Given the description of an element on the screen output the (x, y) to click on. 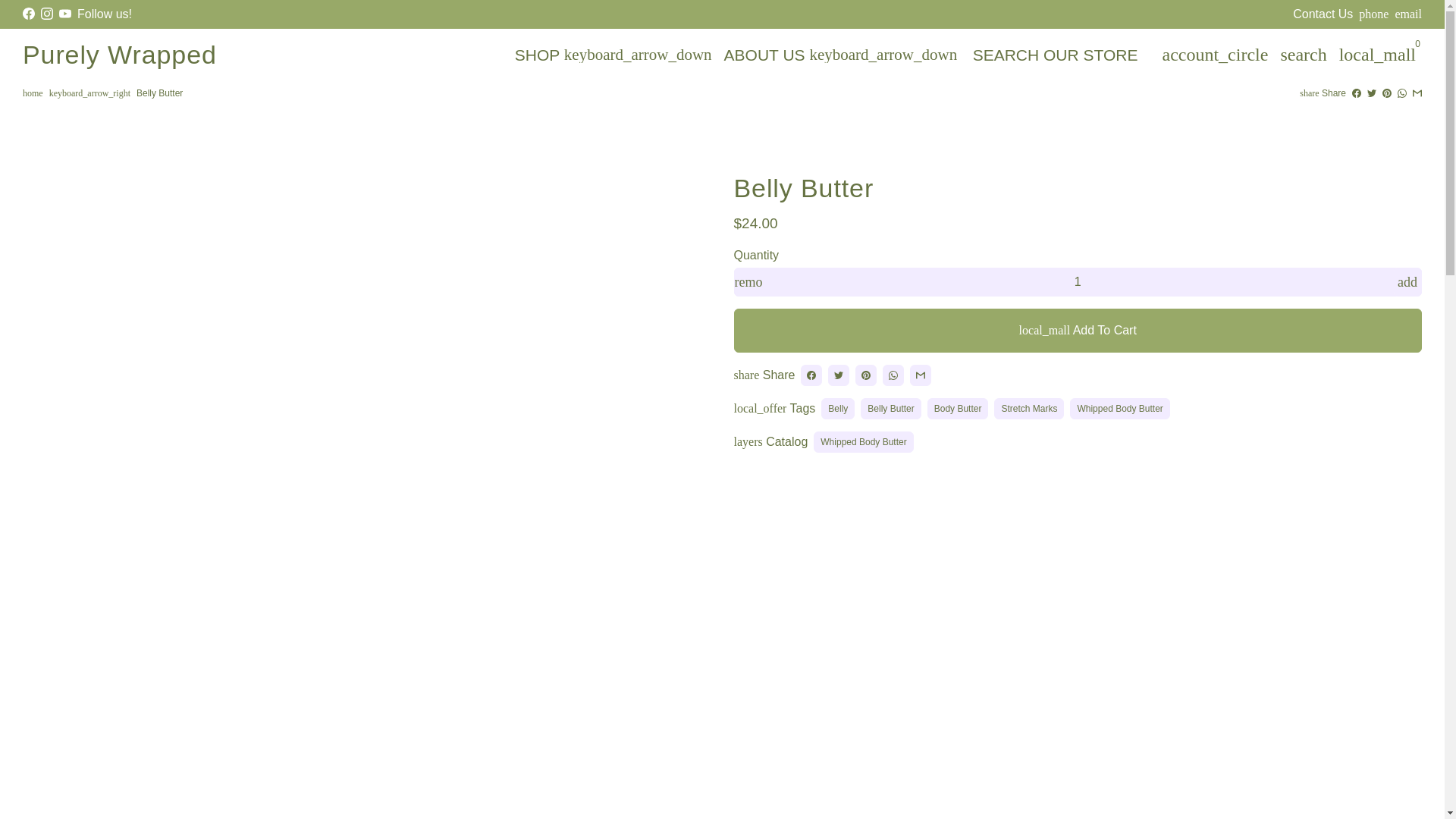
phone (1373, 13)
Purely Wrapped (119, 54)
Log In (1215, 54)
Search (1303, 54)
1 (1077, 281)
3369861054 (1373, 13)
Purely Wrapped on Youtube (65, 13)
Purely Wrapped on Instagram (46, 13)
email (1408, 13)
Purely Wrapped on Facebook (28, 13)
